Given the description of an element on the screen output the (x, y) to click on. 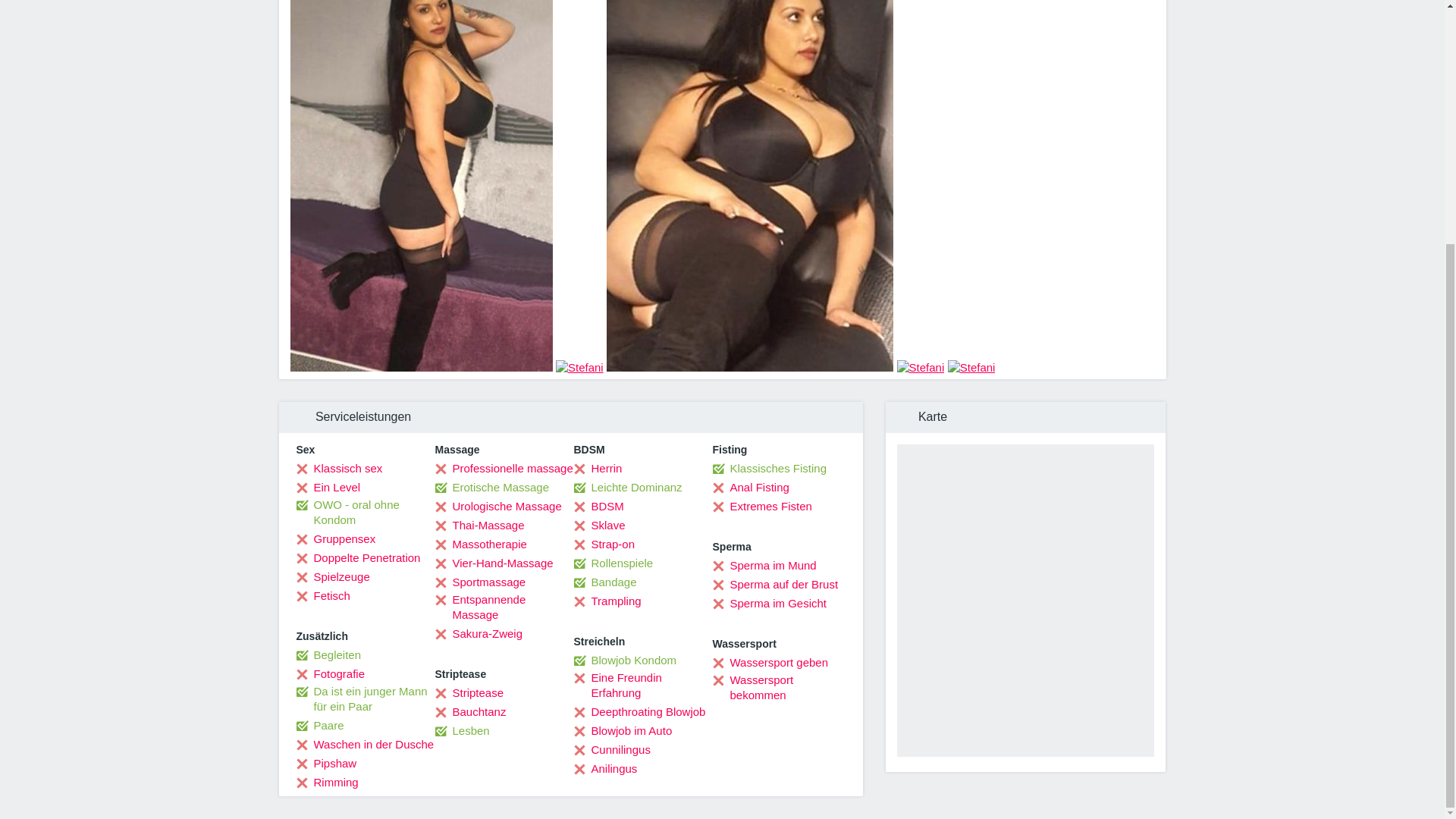
Thai-Massage (479, 525)
Doppelte Penetration (357, 557)
Waschen in der Dusche (364, 744)
Spielzeuge (332, 576)
Professionelle massage (504, 468)
Massotherapie (481, 544)
Fetisch (322, 595)
Erotische Massage (492, 487)
Urologische Massage (498, 506)
Paare (319, 725)
Gruppensex (335, 539)
Ein Level (327, 487)
OWO - oral ohne Kondom (364, 512)
Pipshaw (325, 763)
Begleiten (328, 654)
